Given the description of an element on the screen output the (x, y) to click on. 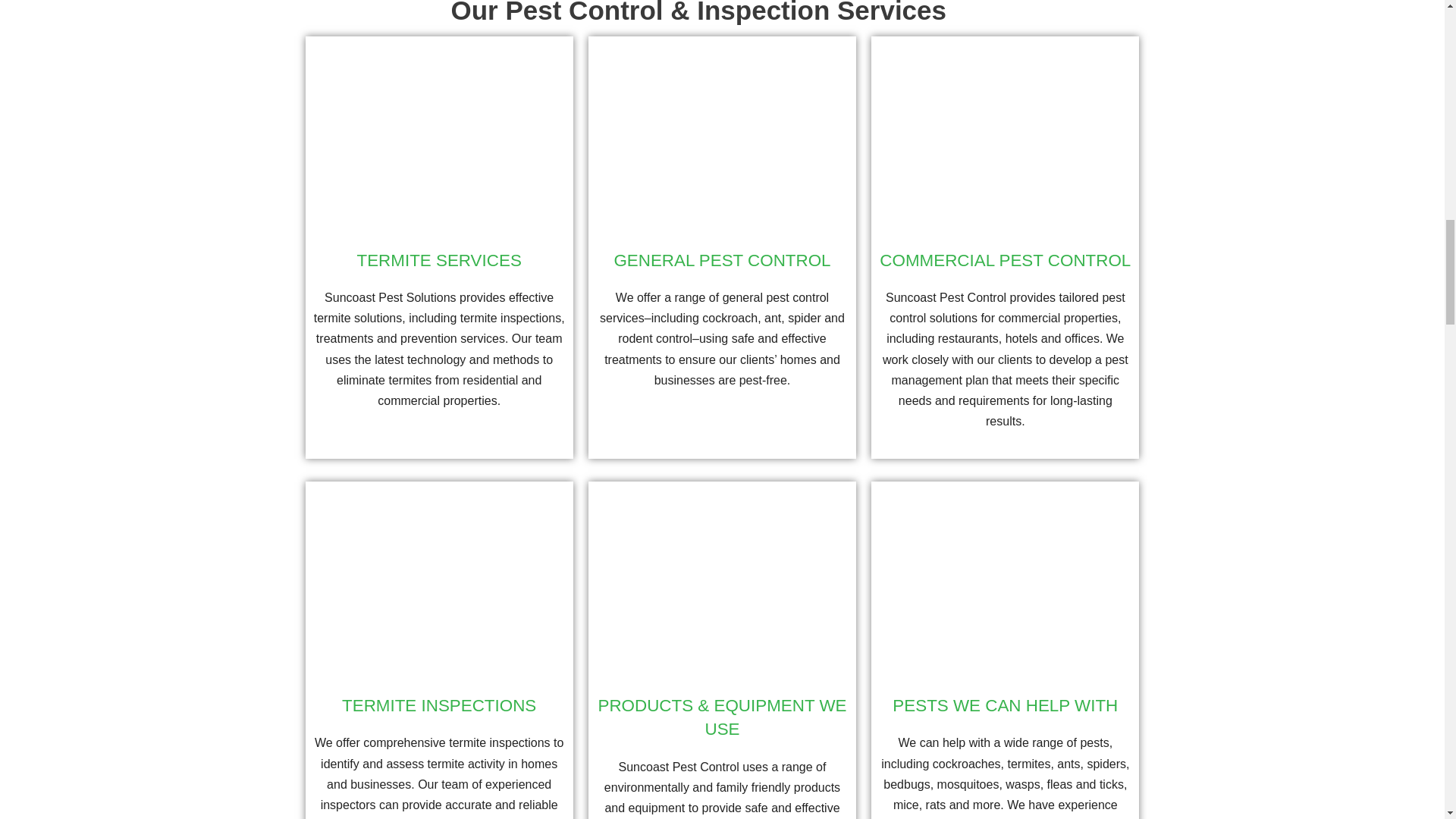
Termite Baiting Systems (438, 137)
Close-up Of A Dead Cockroach (721, 137)
